Given the description of an element on the screen output the (x, y) to click on. 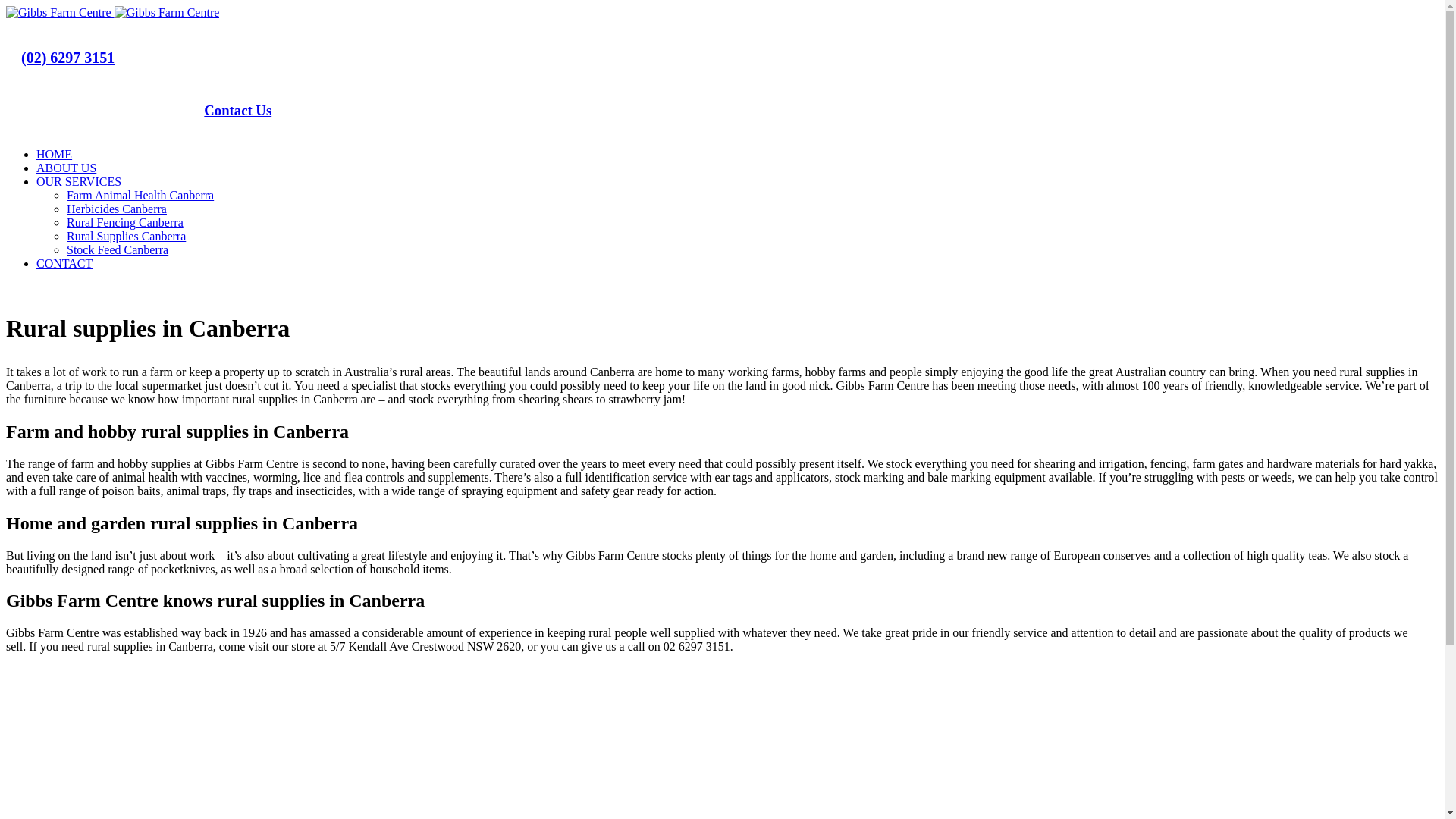
Rural Fencing Canberra Element type: text (124, 222)
Contact Us Element type: text (237, 110)
Herbicides Canberra Element type: text (116, 208)
Farm Animal Health Canberra Element type: text (139, 194)
Rural Supplies Canberra Element type: text (125, 235)
CONTACT Element type: text (64, 263)
(02) 6297 3151 Element type: text (67, 57)
Stock Feed Canberra Element type: text (117, 249)
ABOUT US Element type: text (66, 167)
OUR SERVICES Element type: text (78, 181)
HOME Element type: text (54, 153)
